Given the description of an element on the screen output the (x, y) to click on. 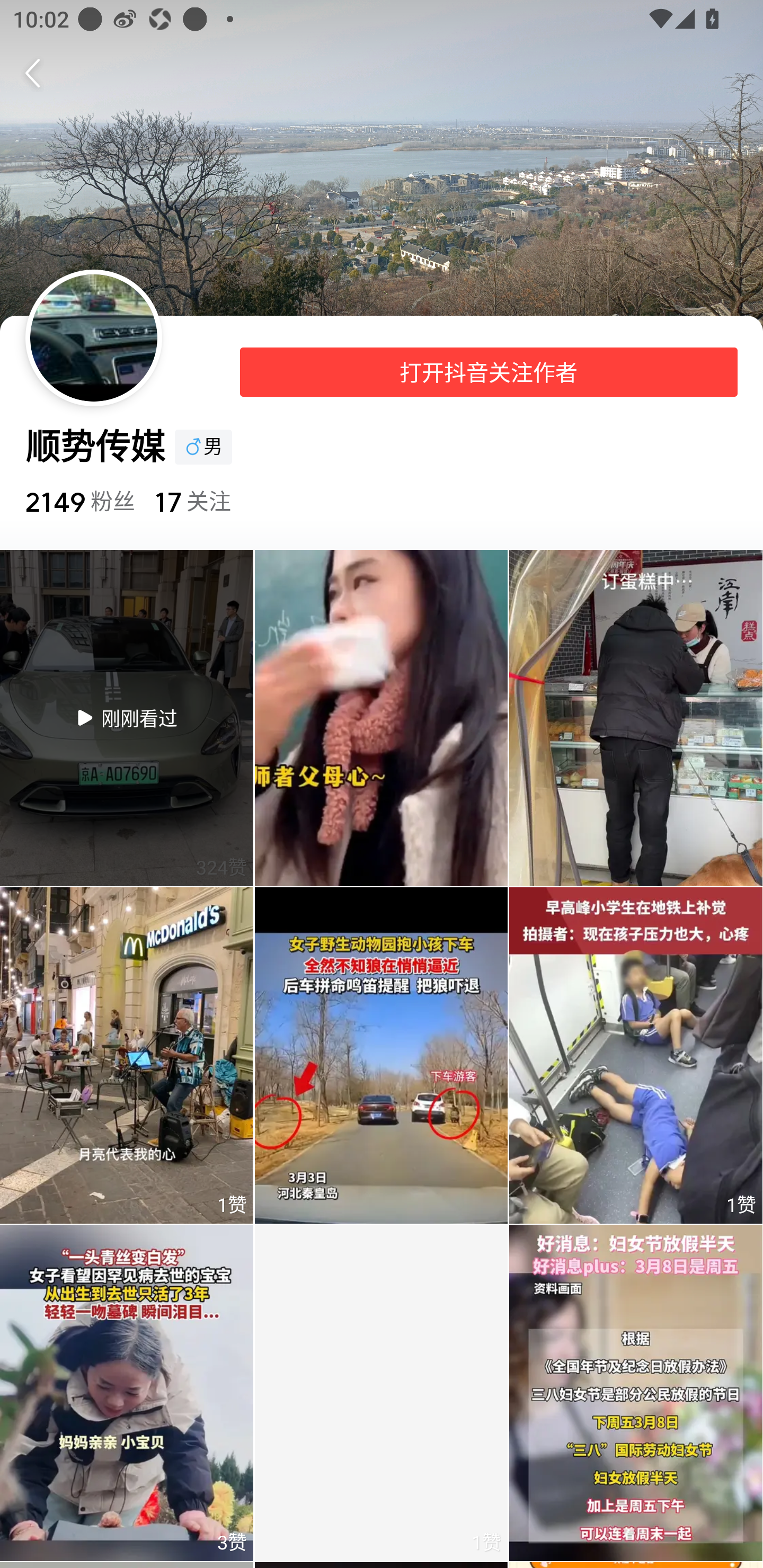
返回 (39, 72)
头像 (93, 337)
打开抖音关注作者 (488, 372)
2149 粉丝 (80, 501)
17 关注 (192, 501)
